Given the description of an element on the screen output the (x, y) to click on. 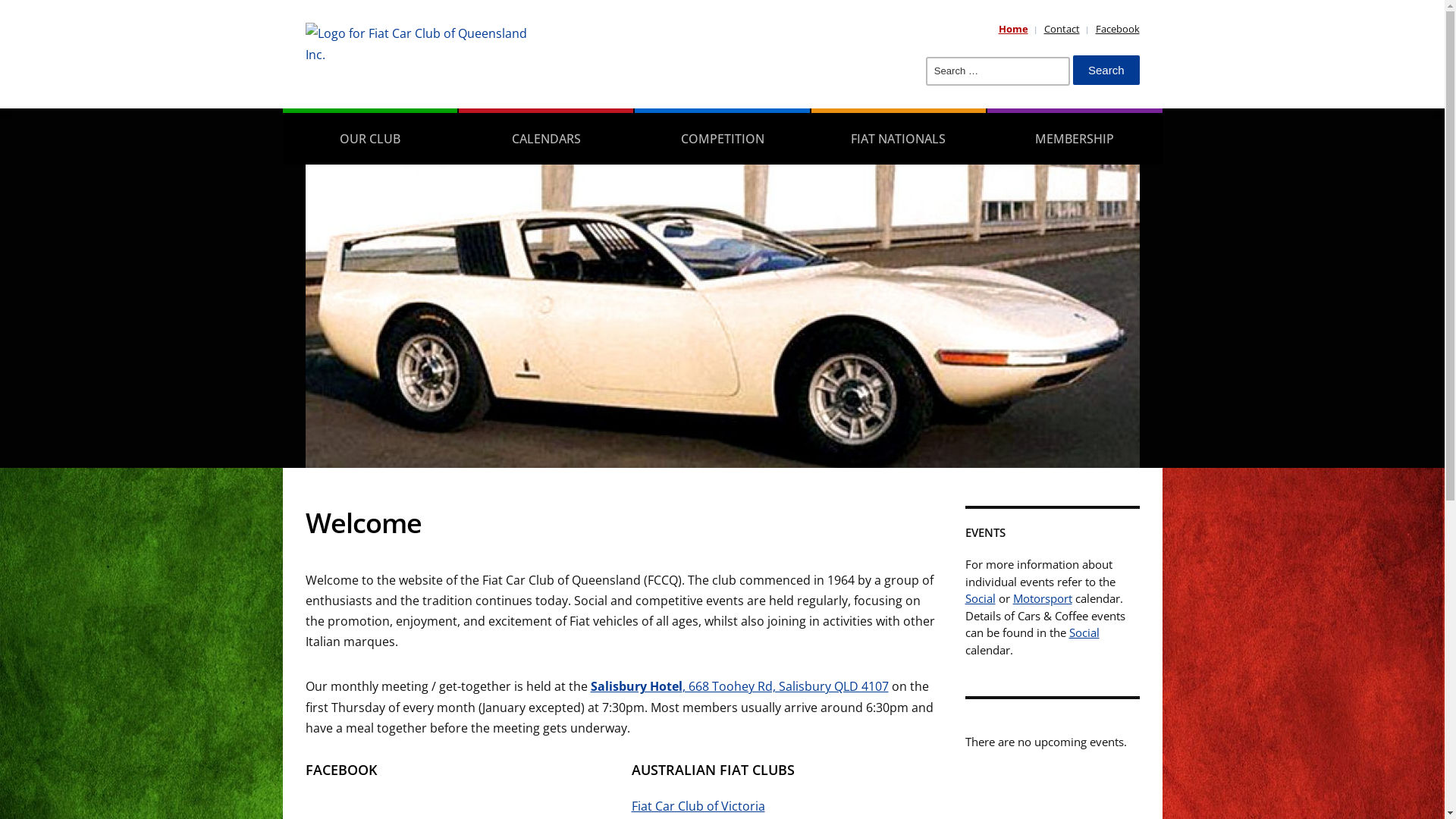
Social Element type: text (1084, 632)
MEMBERSHIP Element type: text (1074, 136)
Contact Element type: text (1061, 28)
CALENDARS Element type: text (545, 136)
OUR CLUB Element type: text (369, 136)
Motorsport Element type: text (1042, 597)
Social Element type: text (979, 597)
COMPETITION Element type: text (721, 136)
Salisbury Hotel, 668 Toohey Rd, Salisbury QLD 4107 Element type: text (738, 685)
Home Element type: text (1012, 28)
Facebook Element type: text (1117, 28)
Fiat Car Club of Victoria Element type: text (697, 805)
FIAT NATIONALS Element type: text (898, 136)
Search Element type: text (1106, 69)
